Given the description of an element on the screen output the (x, y) to click on. 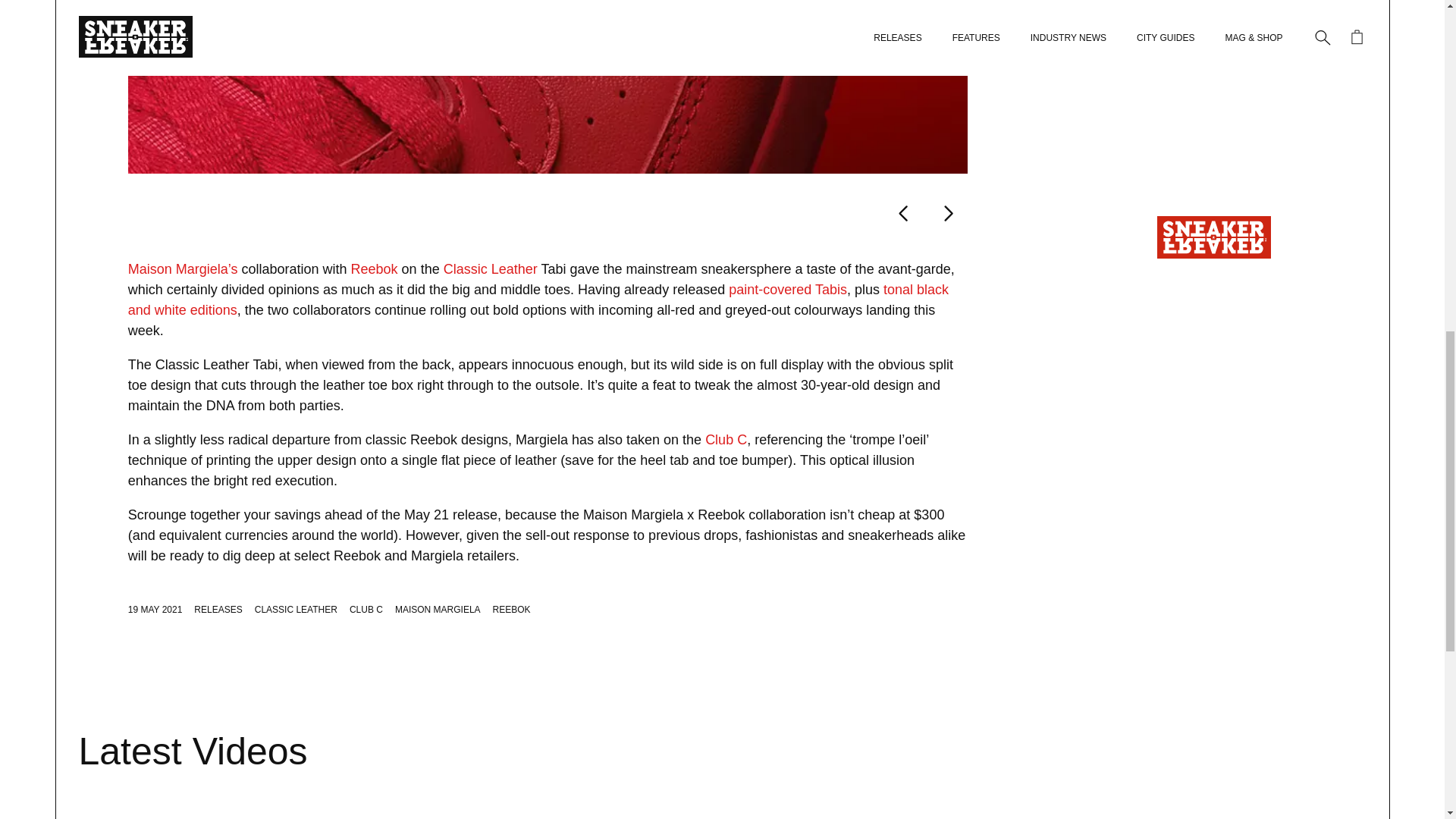
RELEASES (217, 609)
Reebok (373, 268)
CLUB C (365, 609)
CLASSIC LEATHER (295, 609)
paint-covered Tabis (788, 289)
Classic Leather (490, 268)
Club C (725, 439)
tonal black and white editions (538, 299)
REEBOK (512, 609)
MAISON MARGIELA (437, 609)
